Given the description of an element on the screen output the (x, y) to click on. 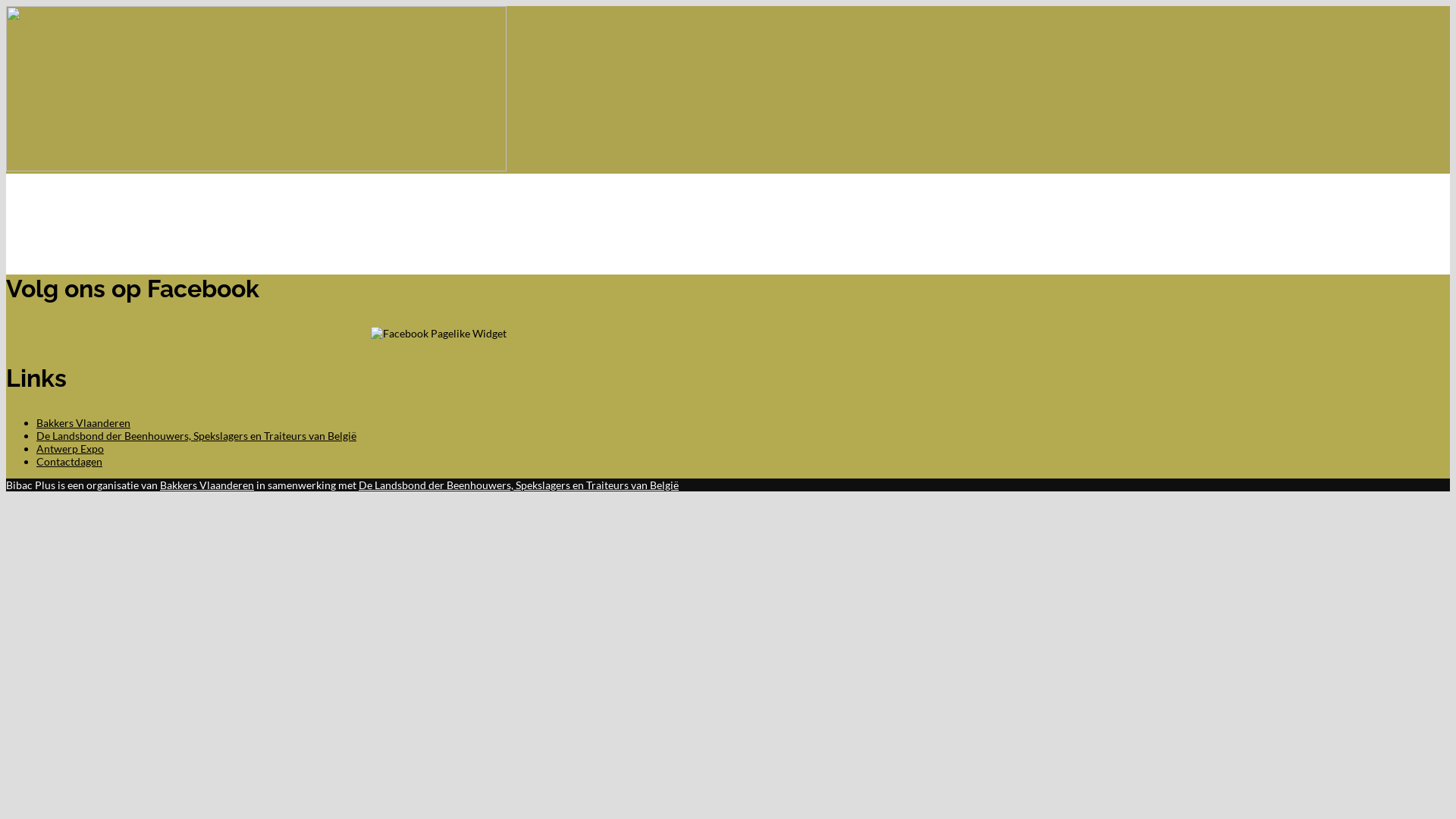
Antwerp Expo Element type: text (69, 448)
Bakkers Vlaanderen Element type: text (207, 484)
Contactdagen Element type: text (69, 461)
Bakkers Vlaanderen Element type: text (83, 422)
